Given the description of an element on the screen output the (x, y) to click on. 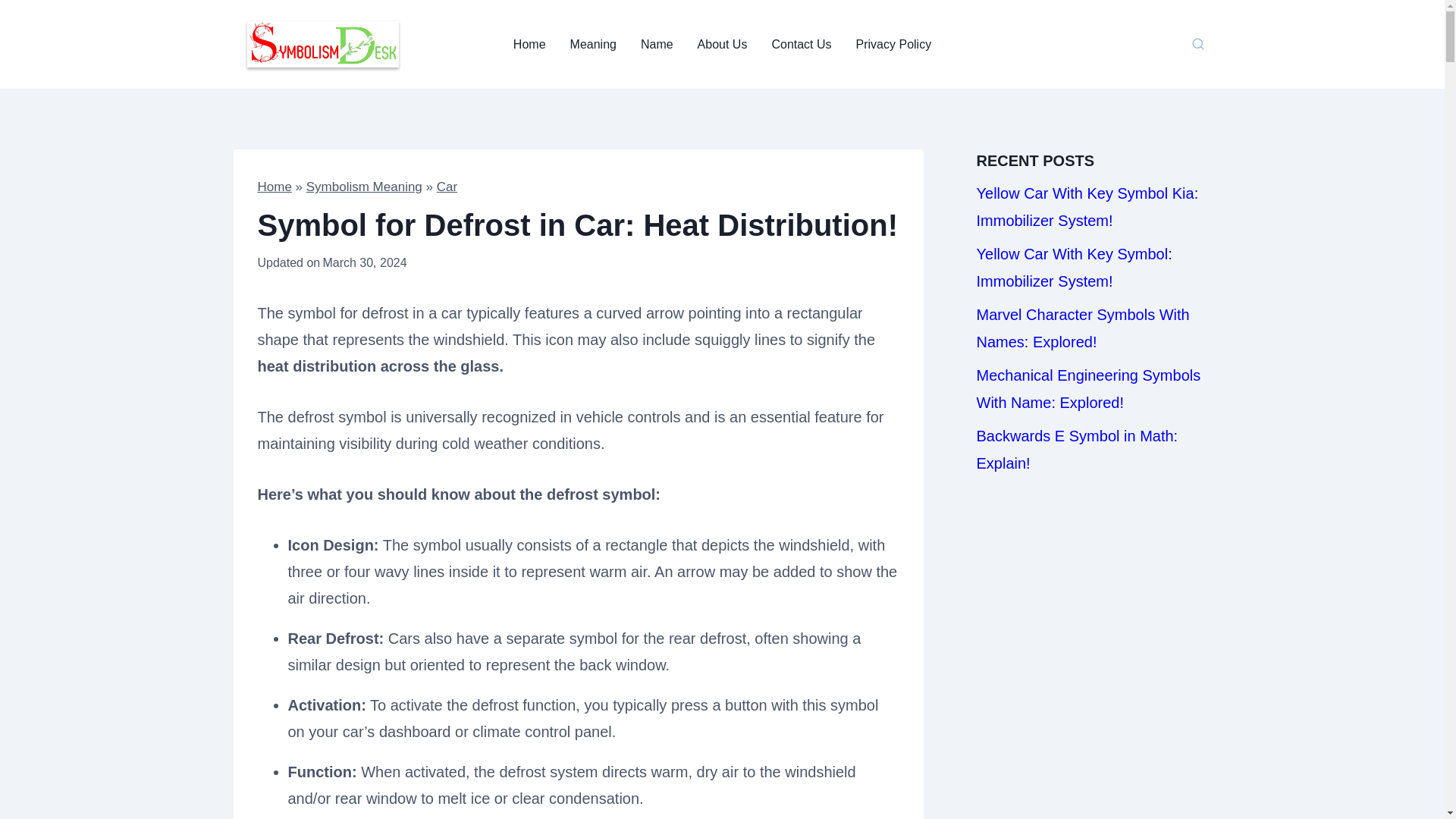
Privacy Policy (893, 44)
Car (446, 186)
Home (528, 44)
About Us (722, 44)
Meaning (592, 44)
Contact Us (800, 44)
Symbolism Meaning (363, 186)
Home (274, 186)
Name (656, 44)
